Given the description of an element on the screen output the (x, y) to click on. 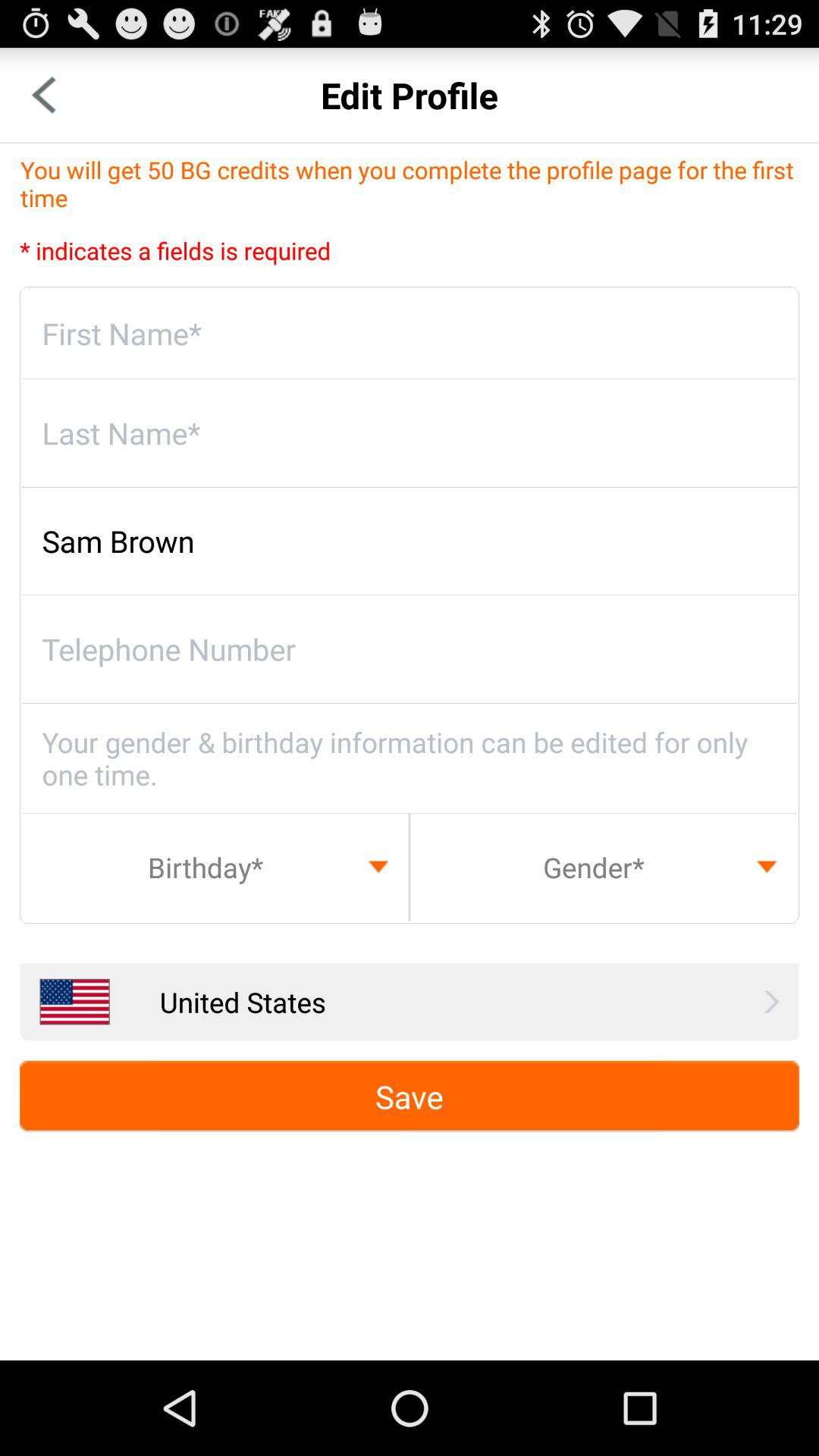
enter first name (409, 333)
